Given the description of an element on the screen output the (x, y) to click on. 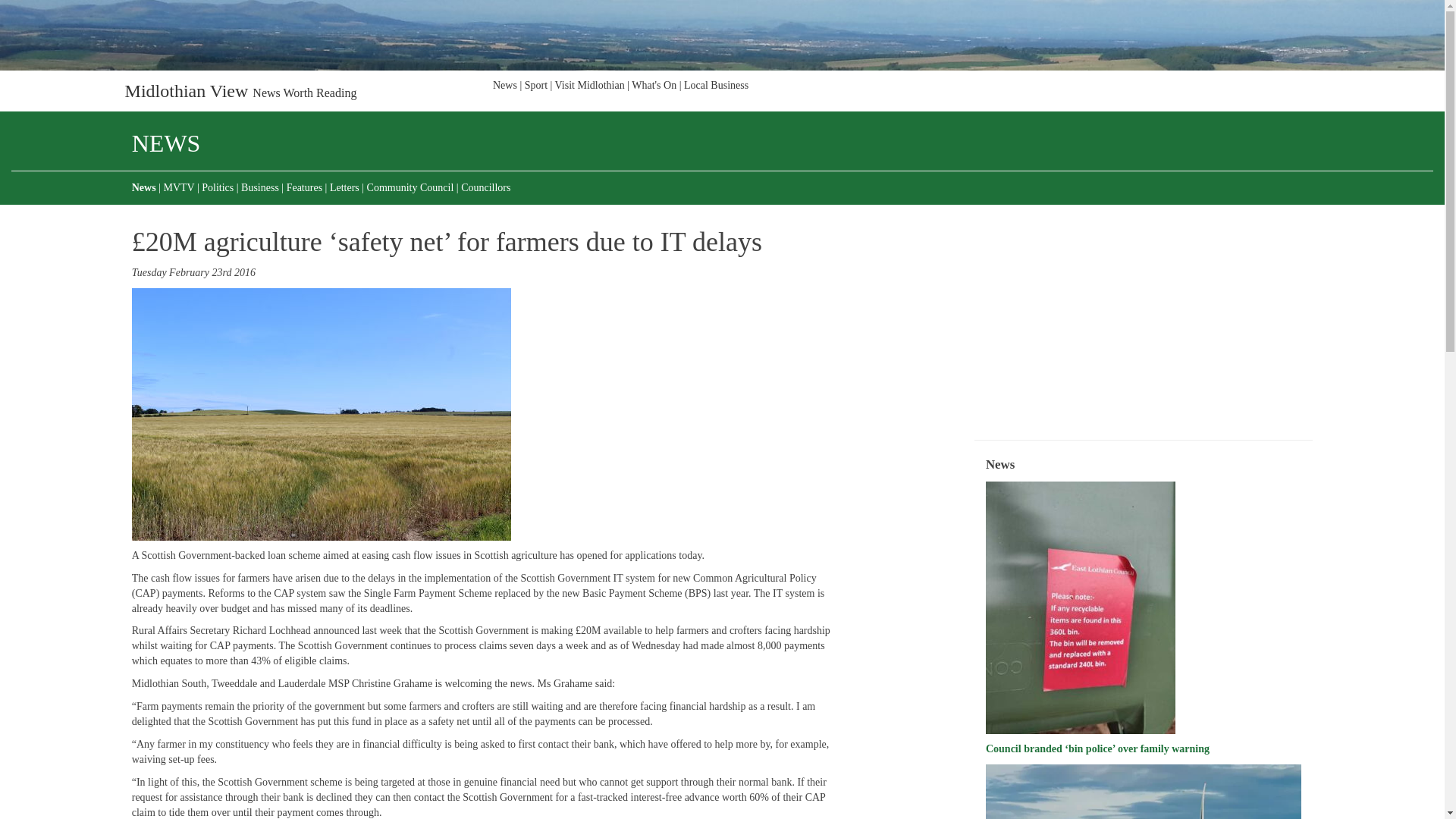
Features (303, 187)
Sport (535, 89)
Advertisement (1145, 318)
Visit Midlothian (589, 89)
Community Council (410, 187)
Politics (217, 187)
Local Business (714, 89)
Business (260, 187)
News (145, 187)
MVTV (178, 187)
News (506, 89)
What's On (653, 89)
NEWS (782, 143)
Councillors (484, 187)
Midlothian View News Worth Reading (240, 90)
